Given the description of an element on the screen output the (x, y) to click on. 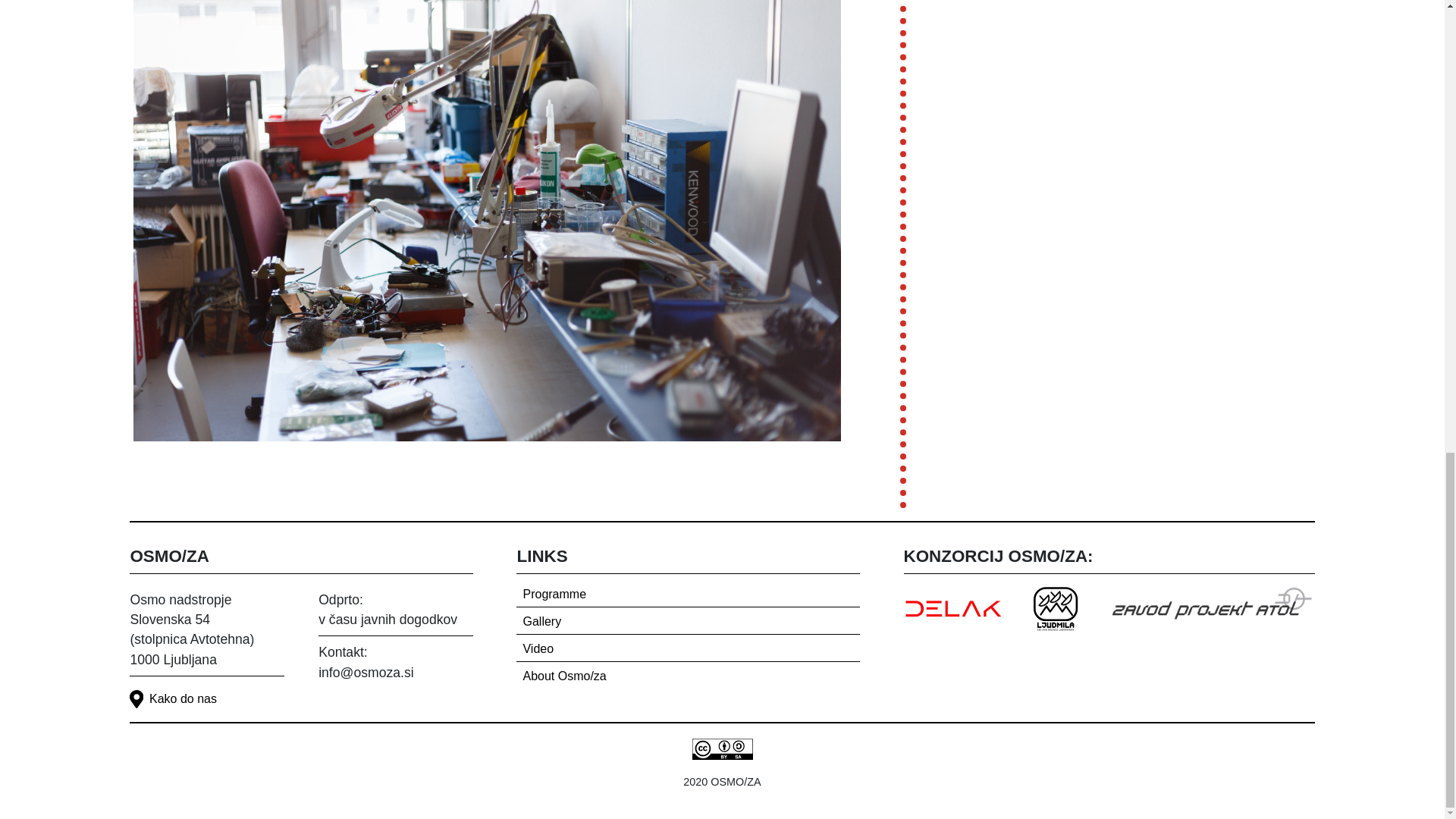
Kako do nas (319, 702)
Gallery (690, 621)
Video (690, 648)
Programme (690, 594)
